Given the description of an element on the screen output the (x, y) to click on. 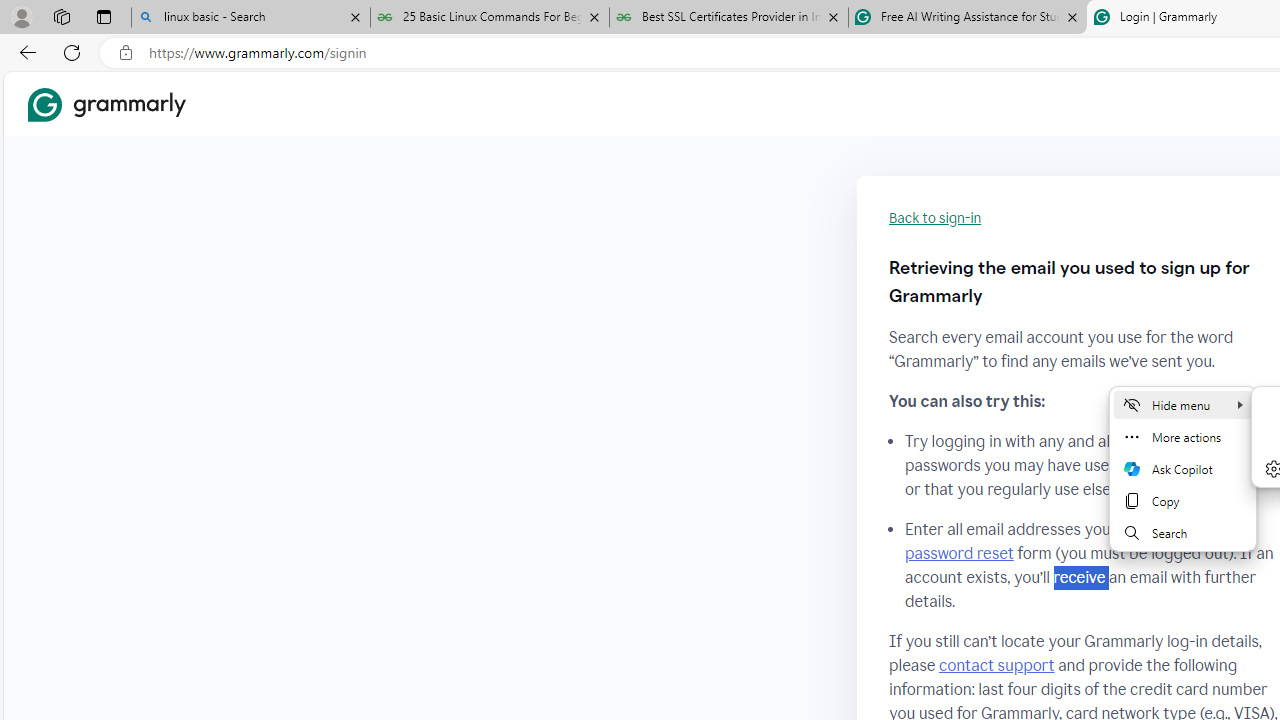
Copy (1182, 500)
contact support (996, 665)
Grammarly Home (106, 104)
Grammarly Home (106, 103)
Mini menu on text selection (1182, 468)
Best SSL Certificates Provider in India - GeeksforGeeks (729, 17)
password reset (958, 553)
Hide menu (1182, 404)
Ask Copilot (1182, 468)
